Given the description of an element on the screen output the (x, y) to click on. 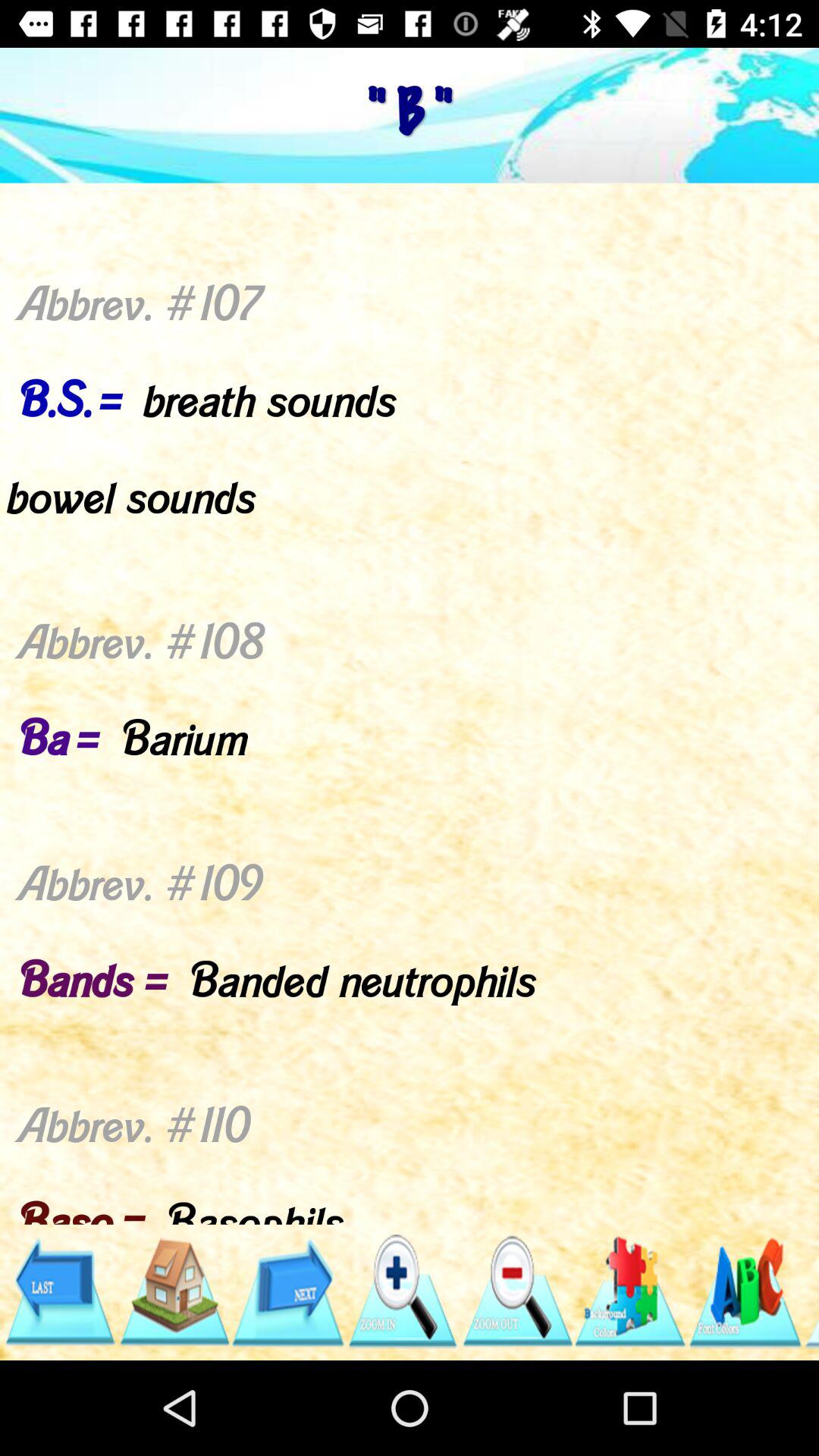
go to next (287, 1291)
